Given the description of an element on the screen output the (x, y) to click on. 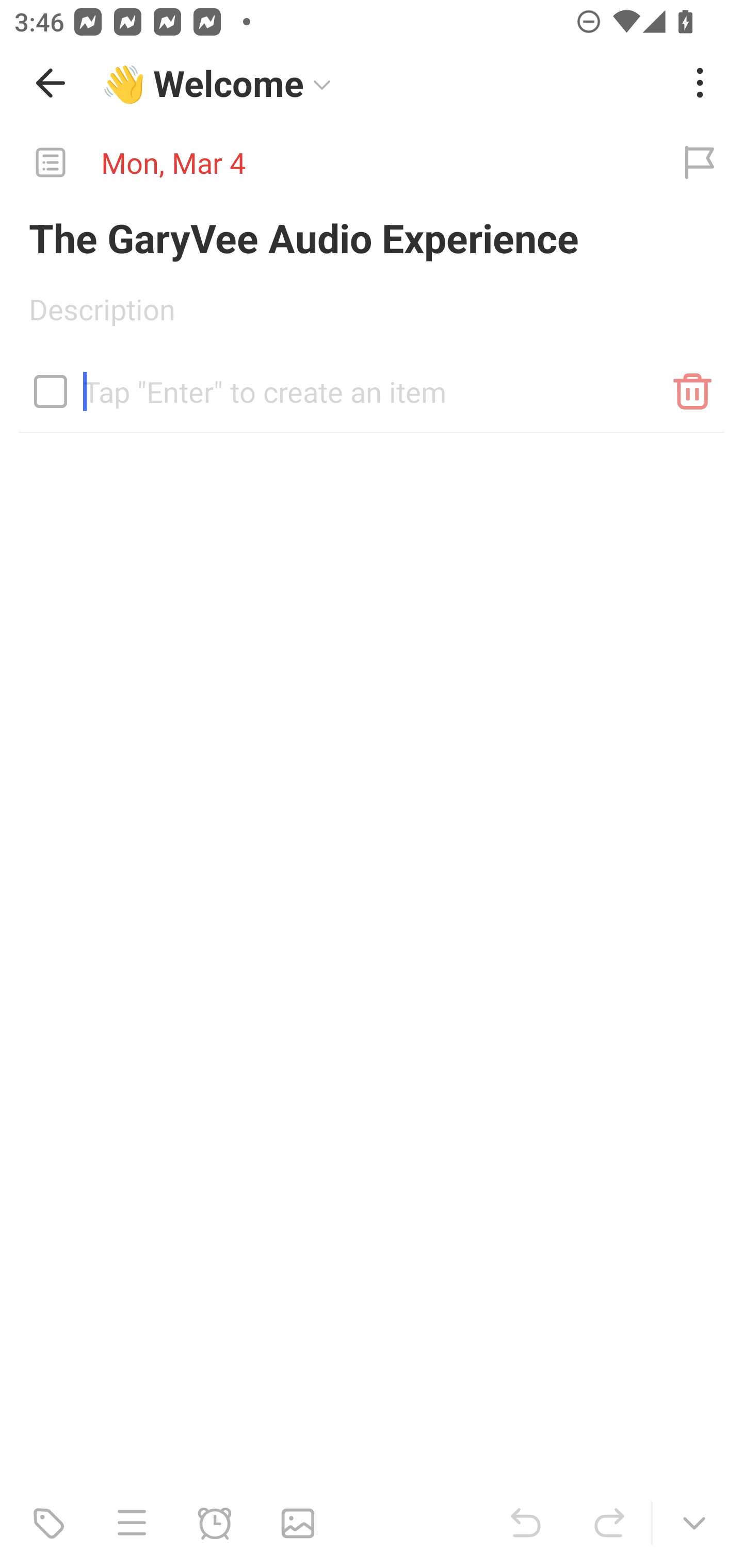
👋 Welcome (384, 82)
Mon, Mar 4  (328, 163)
The GaryVee Audio Experience (371, 237)
Description (371, 315)
  (50, 390)
Tap "Enter" to create an item (371, 383)
